Given the description of an element on the screen output the (x, y) to click on. 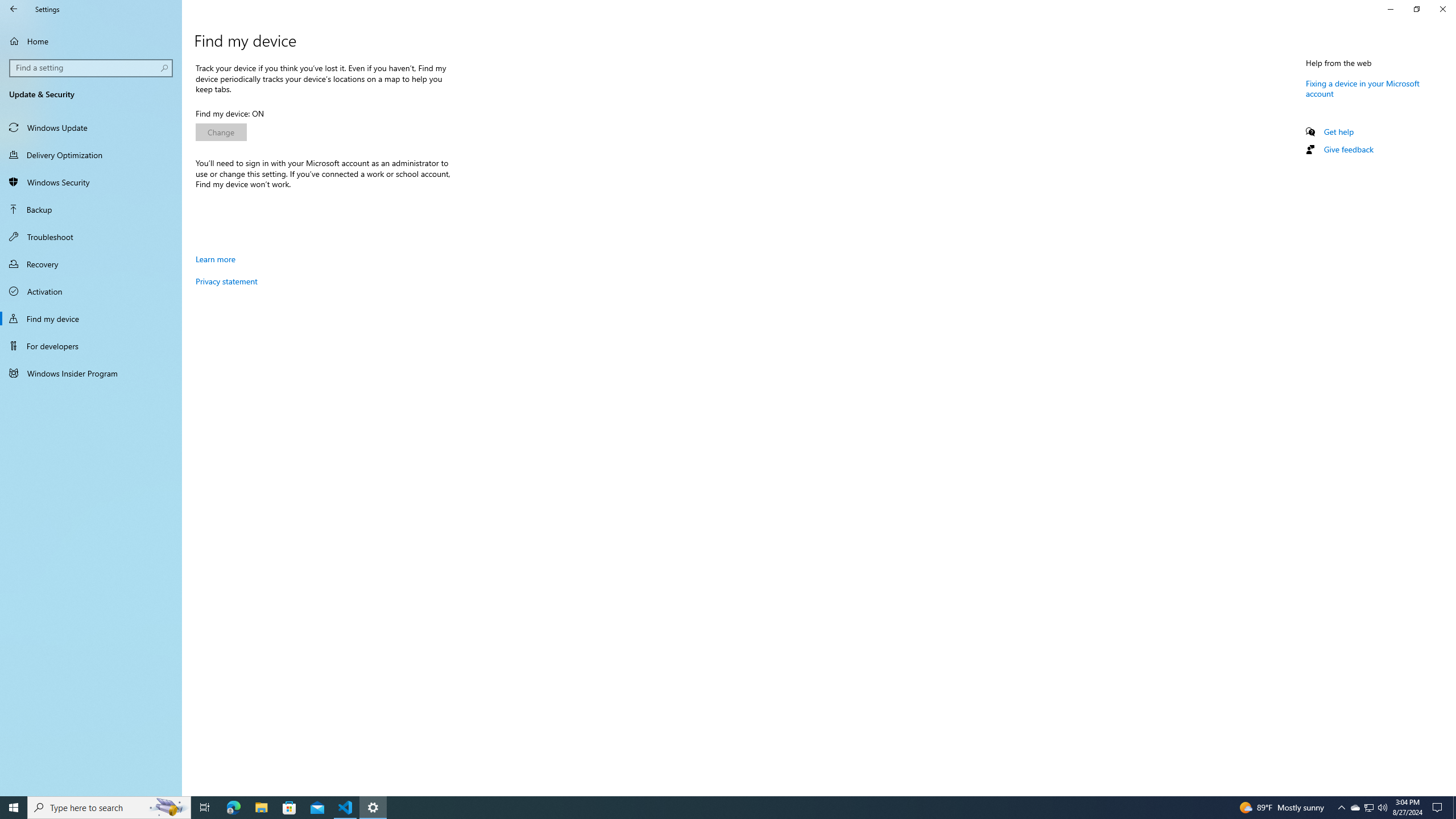
Close Settings (1442, 9)
Action Center, No new notifications (1439, 807)
Running applications (717, 807)
Troubleshoot (91, 236)
File Explorer (261, 807)
Task View (204, 807)
Back (13, 9)
Fixing a device in your Microsoft account (1362, 87)
Home (91, 40)
Search highlights icon opens search home window (167, 807)
Q2790: 100% (1382, 807)
Backup (91, 208)
Visual Studio Code - 1 running window (345, 807)
For developers (1355, 807)
